Given the description of an element on the screen output the (x, y) to click on. 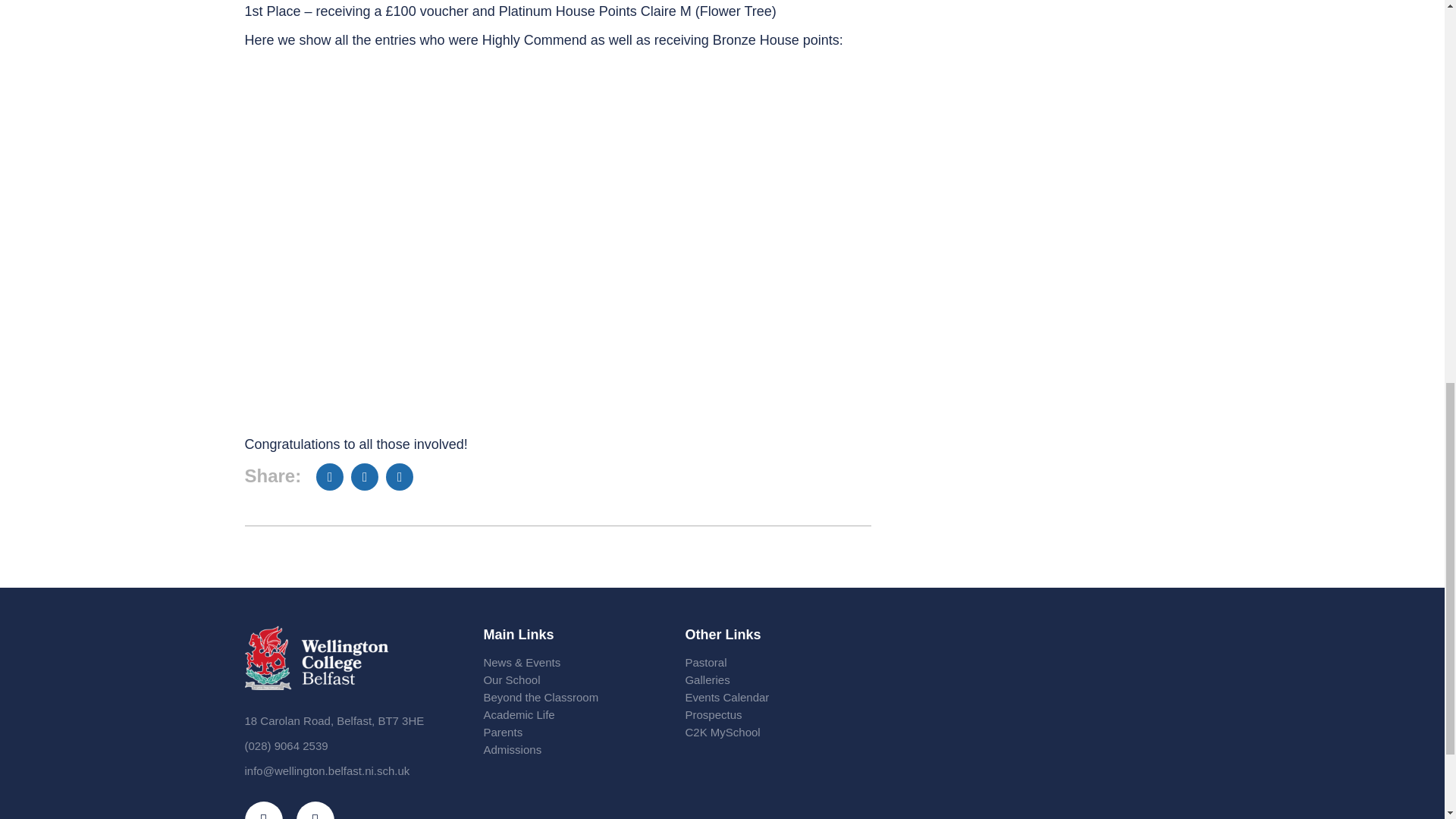
Beyond the Classroom (568, 697)
wellington college belfast (1031, 722)
Our School (568, 679)
